Given the description of an element on the screen output the (x, y) to click on. 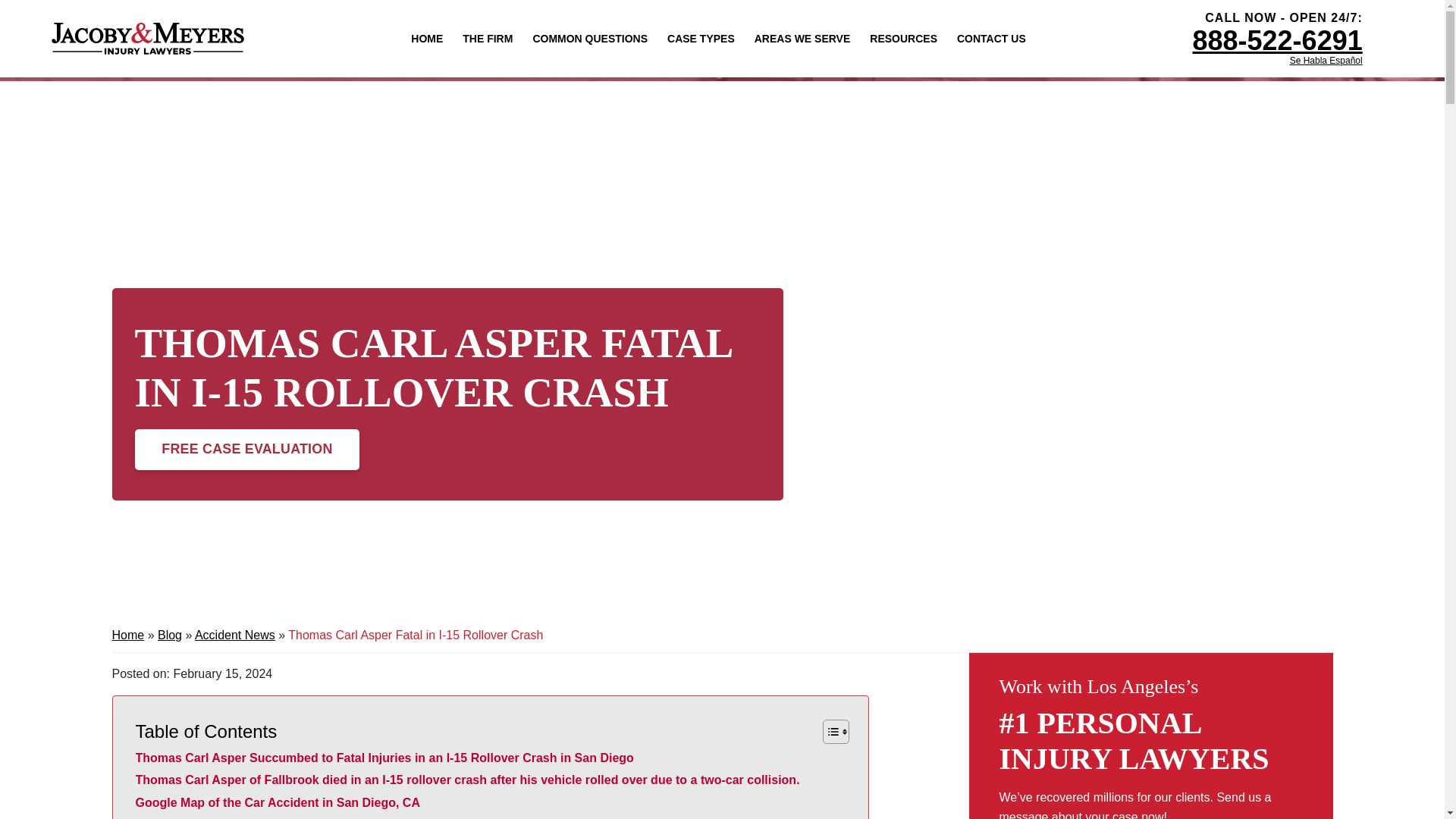
HOME (426, 38)
CONTACT US (991, 38)
888-522-6291 (1276, 40)
FREE CASE EVALUATION (247, 449)
COMMON QUESTIONS (589, 38)
RESOURCES (903, 38)
CASE TYPES (701, 38)
Google Map of the Car Accident in San Diego, CA (277, 803)
AREAS WE SERVE (802, 38)
